Given the description of an element on the screen output the (x, y) to click on. 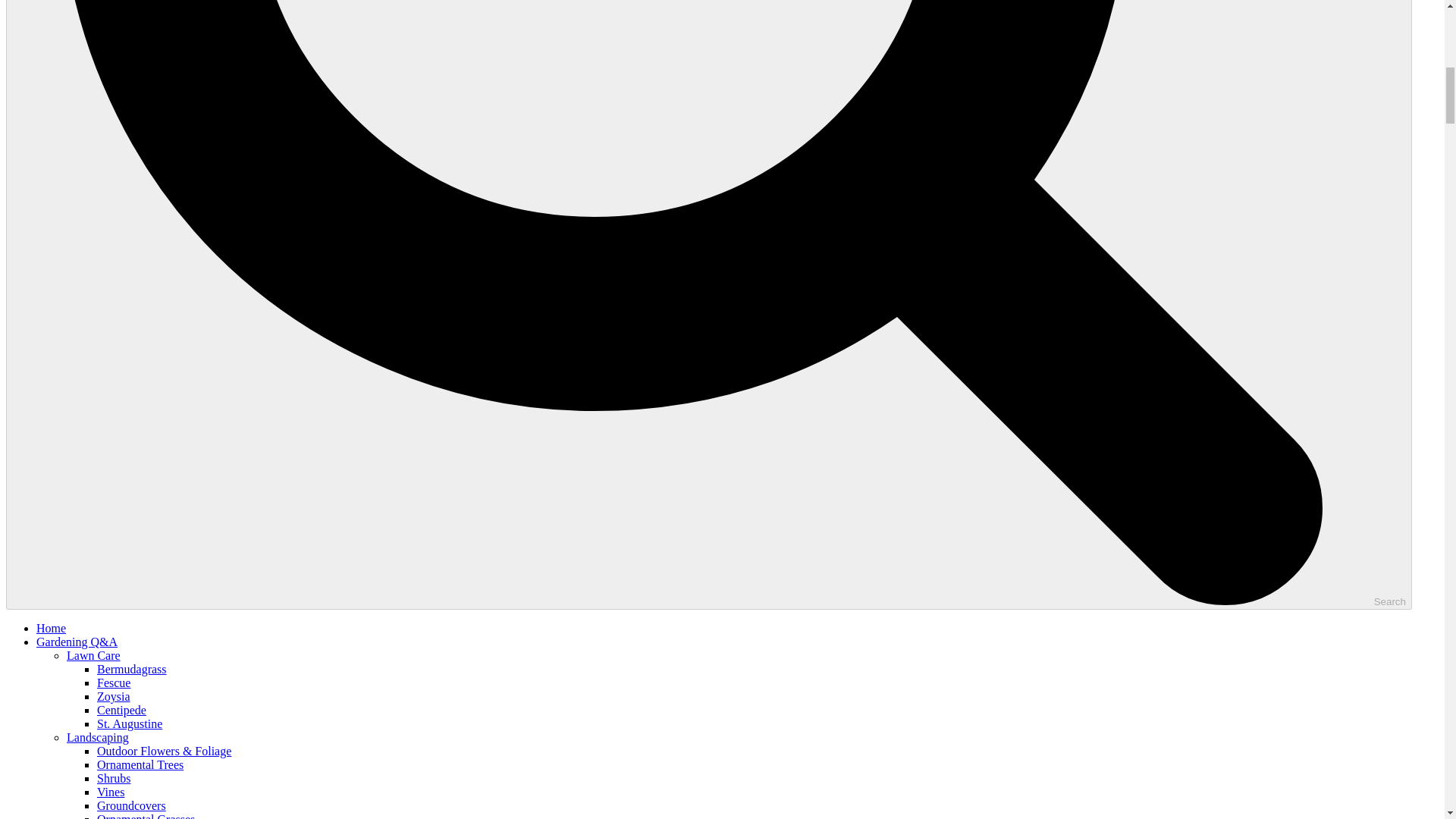
Zoysia (114, 696)
Groundcovers (131, 805)
Bermudagrass (132, 668)
St. Augustine (129, 723)
Shrubs (114, 778)
Fescue (114, 682)
Ornamental Grasses (146, 816)
Landscaping (97, 737)
Vines (110, 791)
Centipede (122, 709)
Home (50, 627)
Lawn Care (93, 655)
Ornamental Trees (140, 764)
